Given the description of an element on the screen output the (x, y) to click on. 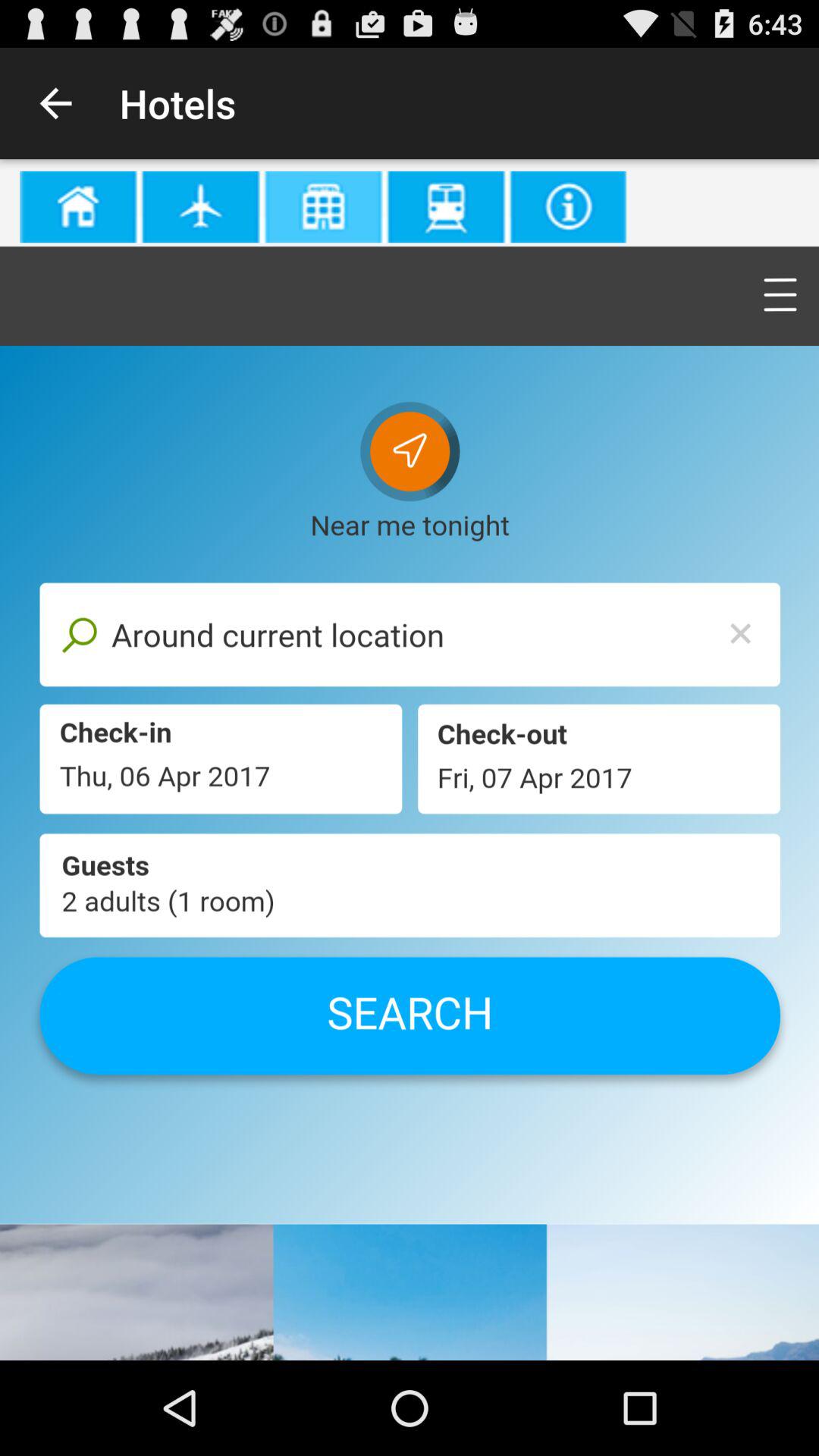
select the all page (409, 759)
